Given the description of an element on the screen output the (x, y) to click on. 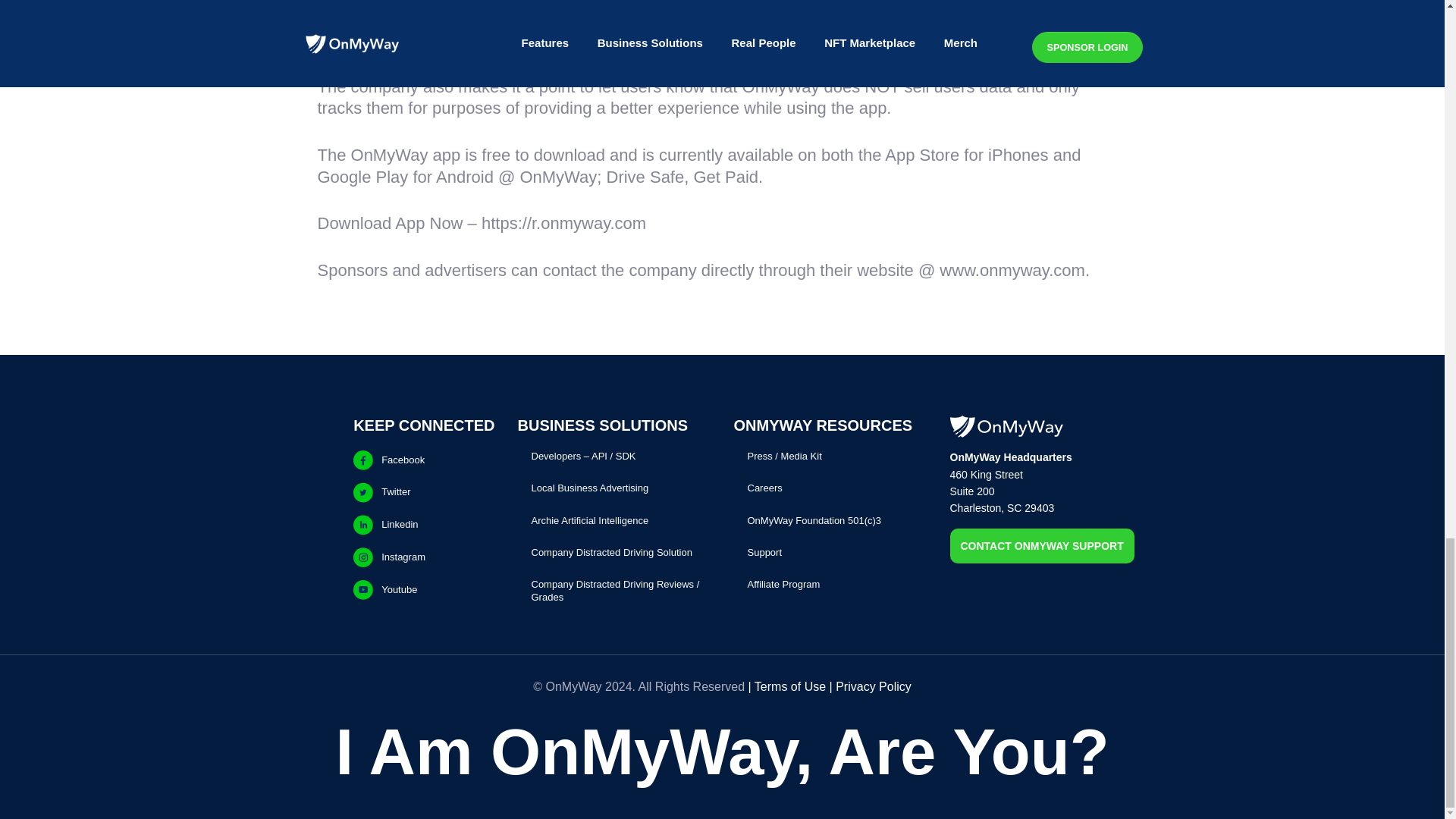
Affiliate Program (784, 583)
Facebook (424, 433)
Twitter (424, 469)
CONTACT ONMYWAY SUPPORT (1040, 545)
Company Distracted Driving Solution (611, 547)
Instagram (424, 541)
Youtube (424, 577)
Terms of Use (789, 686)
Support (765, 552)
Privacy Policy (873, 686)
Linkedin (424, 506)
Local Business Advertising (589, 480)
Careers (765, 487)
Archie Artificial Intelligence (589, 513)
